Given the description of an element on the screen output the (x, y) to click on. 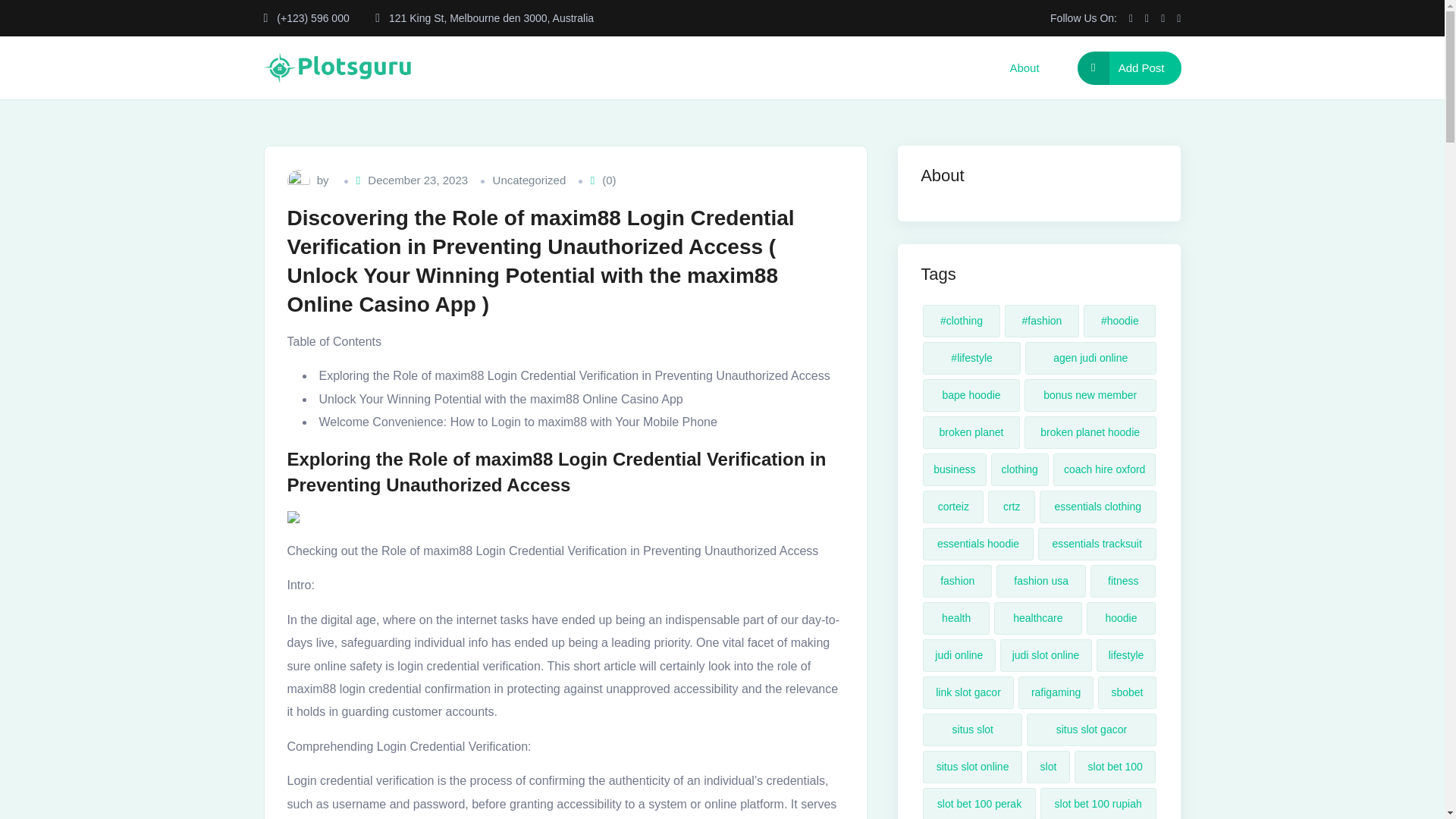
Add Post (1128, 68)
agen judi online (1090, 358)
broken planet hoodie (1090, 432)
bape hoodie (971, 395)
bonus new member (1090, 395)
Uncategorized (529, 180)
broken planet (971, 432)
